Given the description of an element on the screen output the (x, y) to click on. 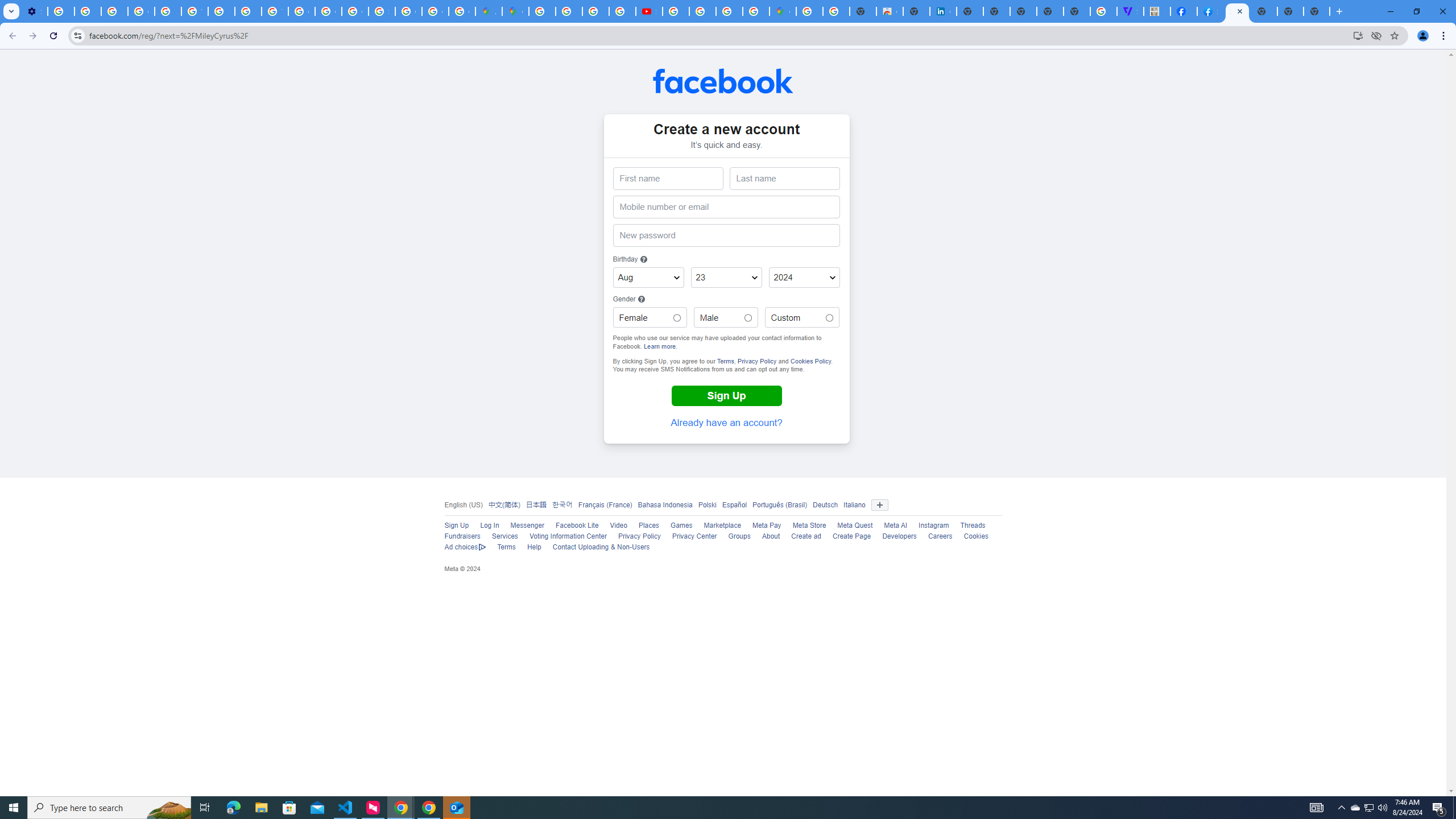
Chrome Web Store (889, 11)
Facebook (723, 80)
Sign Up for Facebook (1236, 11)
Instagram (933, 525)
Year (804, 277)
Privacy Help Center - Policies Help (248, 11)
Chrome (1445, 35)
Help (534, 547)
Learn how to find your photos - Google Photos Help (87, 11)
Privacy Policy (639, 536)
